Given the description of an element on the screen output the (x, y) to click on. 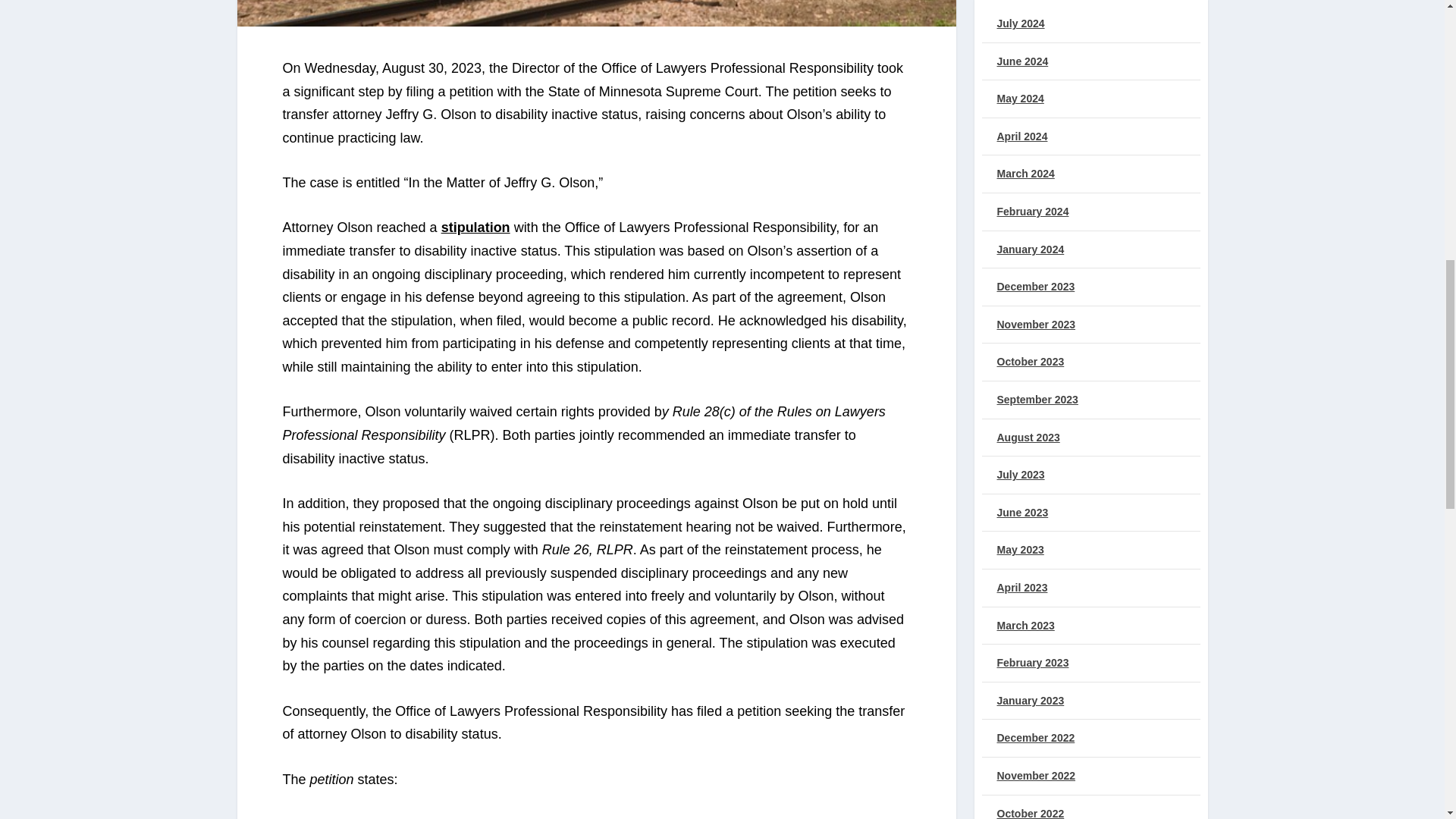
stipulation (476, 227)
